Given the description of an element on the screen output the (x, y) to click on. 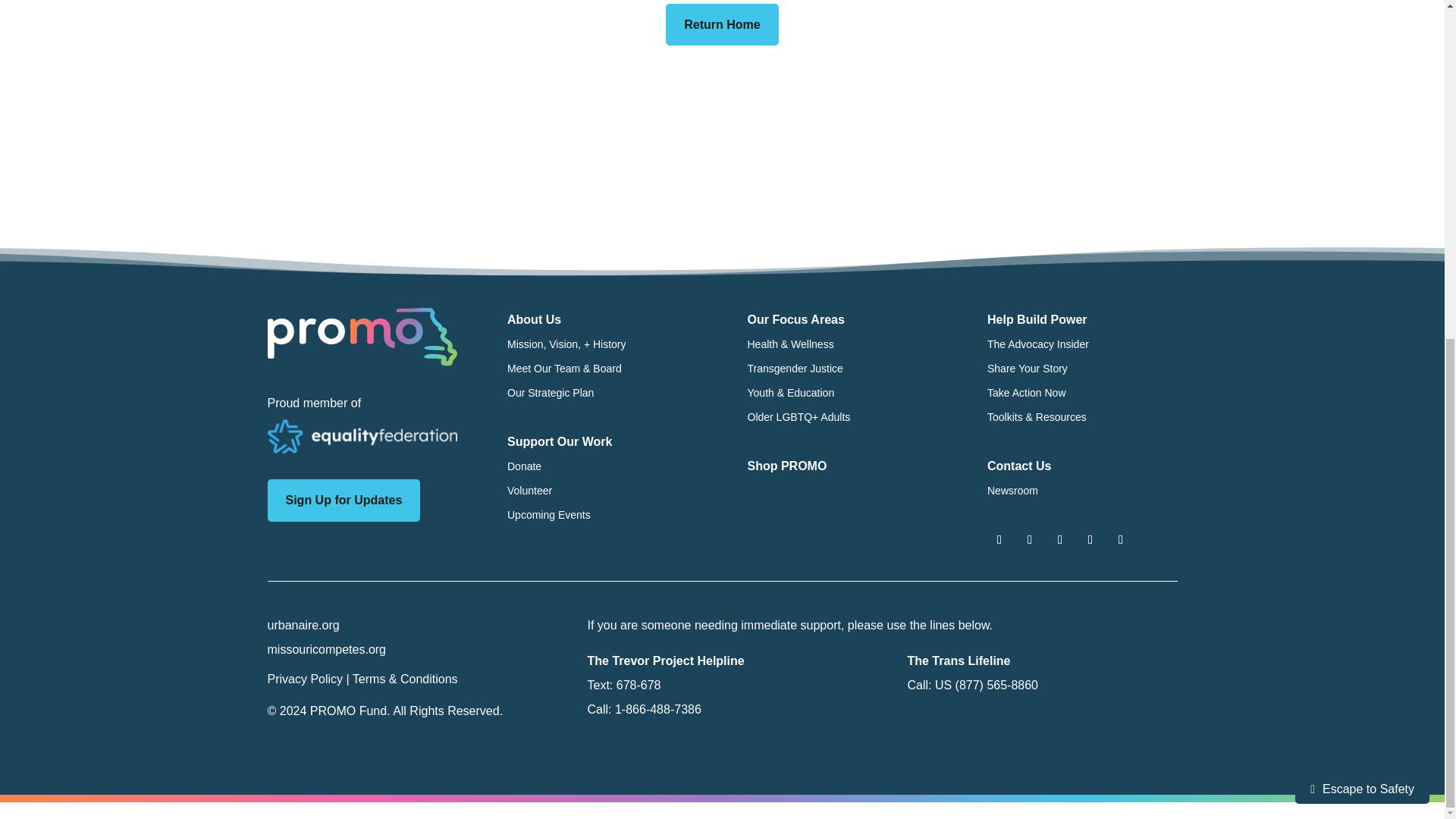
Follow on Instagram (1059, 539)
Follow on X (1029, 539)
equality-federation-logo (361, 436)
Follow on Facebook (999, 539)
Follow on TikTok (1090, 539)
Escape to Safety (1362, 215)
Follow on LinkedIn (1120, 539)
